Given the description of an element on the screen output the (x, y) to click on. 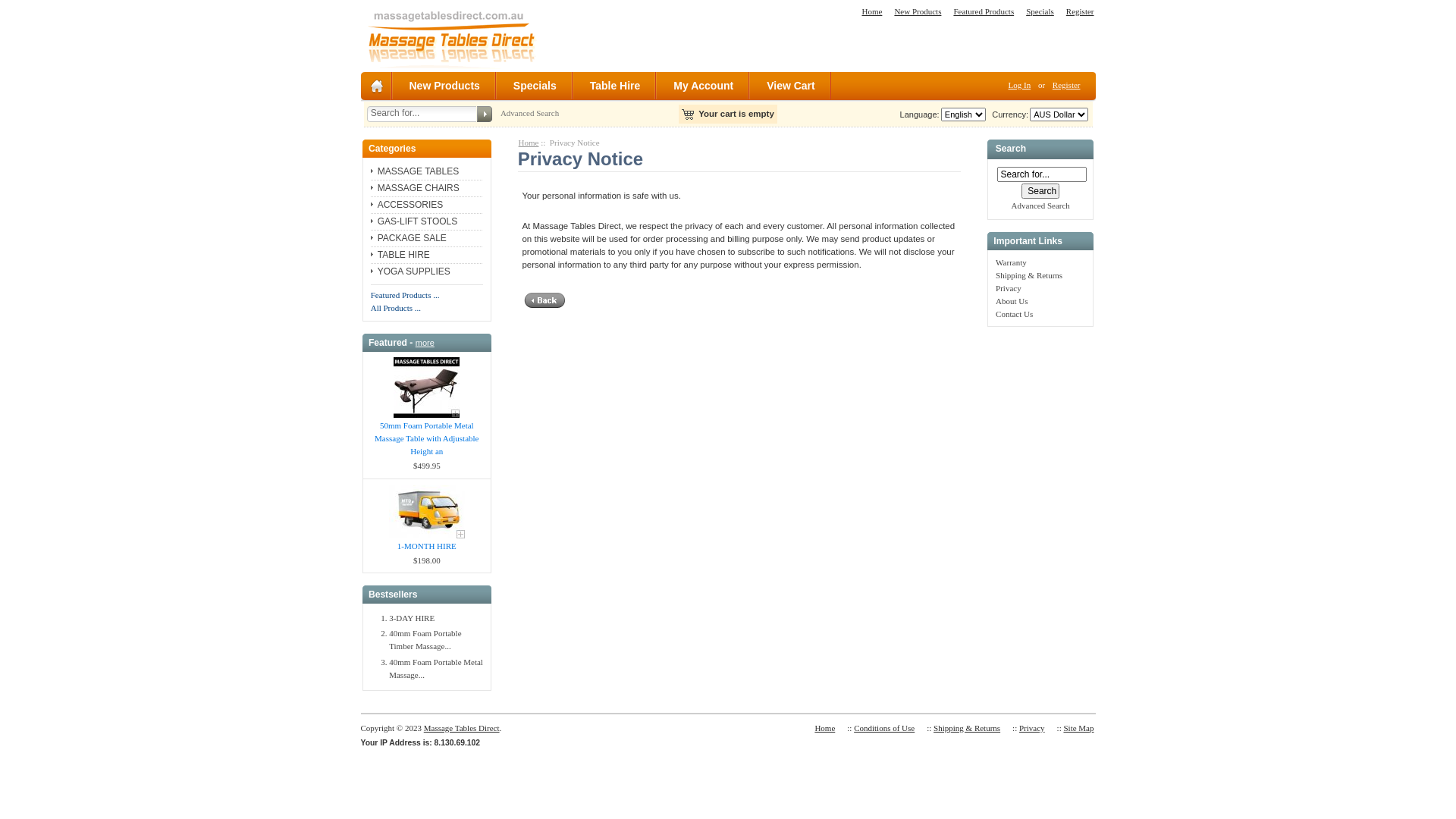
more Element type: text (424, 342)
GAS-LIFT STOOLS Element type: text (414, 221)
MASSAGE CHAIRS Element type: text (414, 187)
Featured Products Element type: text (983, 10)
Home Element type: text (871, 10)
PACKAGE SALE Element type: text (408, 237)
View Cart Element type: text (791, 85)
Table Hire Element type: text (615, 85)
40mm Foam Portable Timber Massage... Element type: text (425, 639)
Home Element type: text (528, 142)
Warranty Element type: text (1010, 261)
About Us Element type: text (1011, 299)
40mm Foam Portable Metal Massage... Element type: text (436, 668)
New Products Element type: text (445, 85)
Contact Us Element type: text (1013, 313)
Specials Element type: text (535, 85)
Conditions of Use Element type: text (883, 727)
ACCESSORIES Element type: text (406, 204)
Specials Element type: text (1040, 10)
MASSAGE TABLES Element type: text (414, 171)
Massage Tables Direct Element type: text (461, 727)
All Products ... Element type: text (395, 307)
 Back  Element type: hover (545, 299)
3-DAY HIRE Element type: text (411, 617)
My Account Element type: text (703, 85)
Search Element type: text (1040, 190)
Home Element type: text (824, 727)
YOGA SUPPLIES Element type: text (410, 271)
 1-MONTH HIRE  Element type: hover (426, 511)
Featured Products ... Element type: text (404, 294)
Log In Element type: text (1019, 84)
Shipping & Returns Element type: text (1028, 274)
 Powered by Zen Cart :: The Art of E-Commerce  Element type: hover (450, 37)
New Products Element type: text (917, 10)
Advanced Search Element type: text (529, 112)
Privacy Element type: text (1008, 287)
TABLE HIRE Element type: text (399, 254)
Privacy Element type: text (1031, 727)
1-MONTH HIRE Element type: text (426, 546)
Register Element type: text (1080, 10)
Advanced Search Element type: text (1040, 205)
Register Element type: text (1066, 84)
Site Map Element type: text (1078, 727)
Shipping & Returns Element type: text (966, 727)
